Given the description of an element on the screen output the (x, y) to click on. 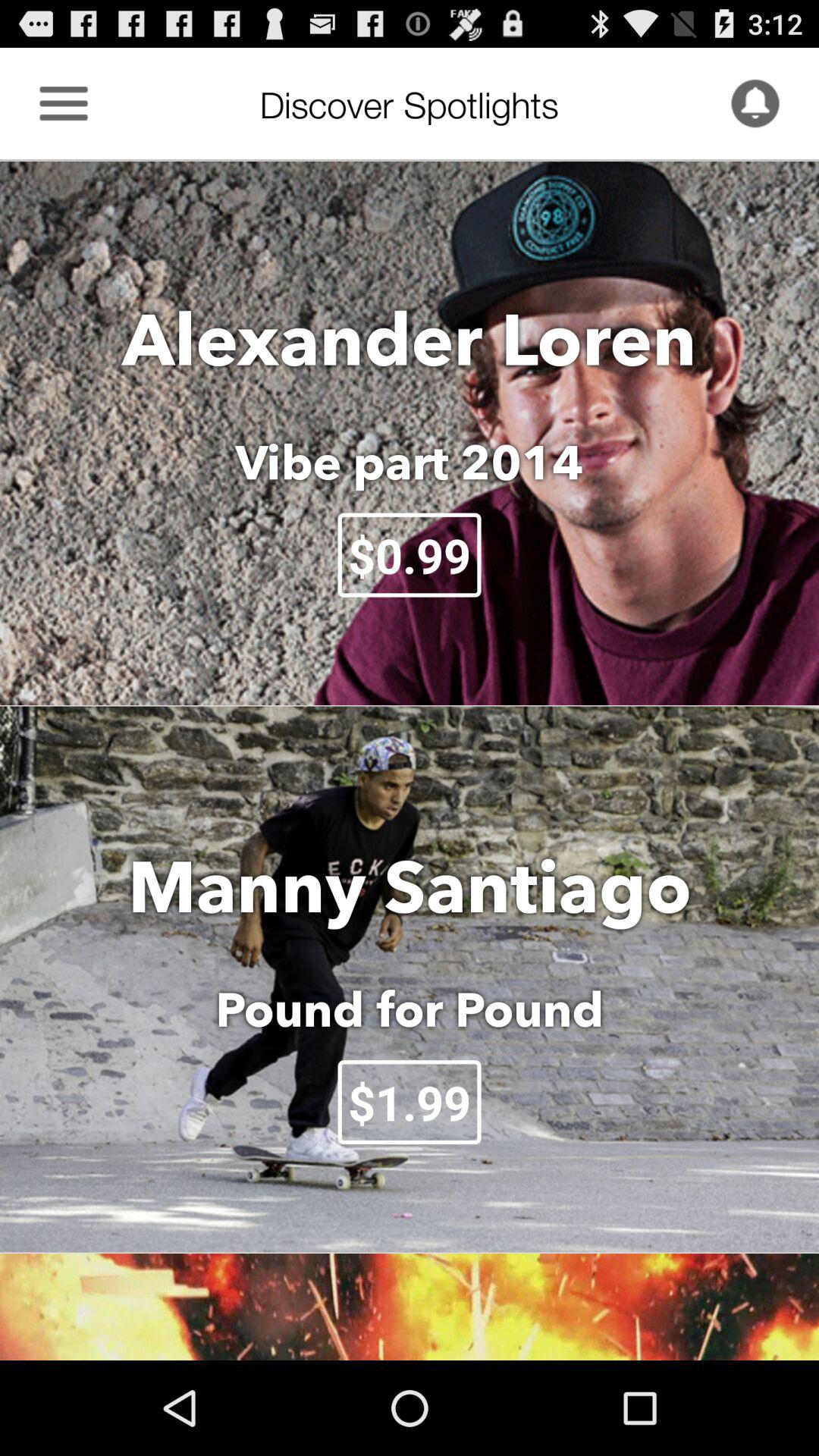
select the vibe part 2014 (409, 461)
